Given the description of an element on the screen output the (x, y) to click on. 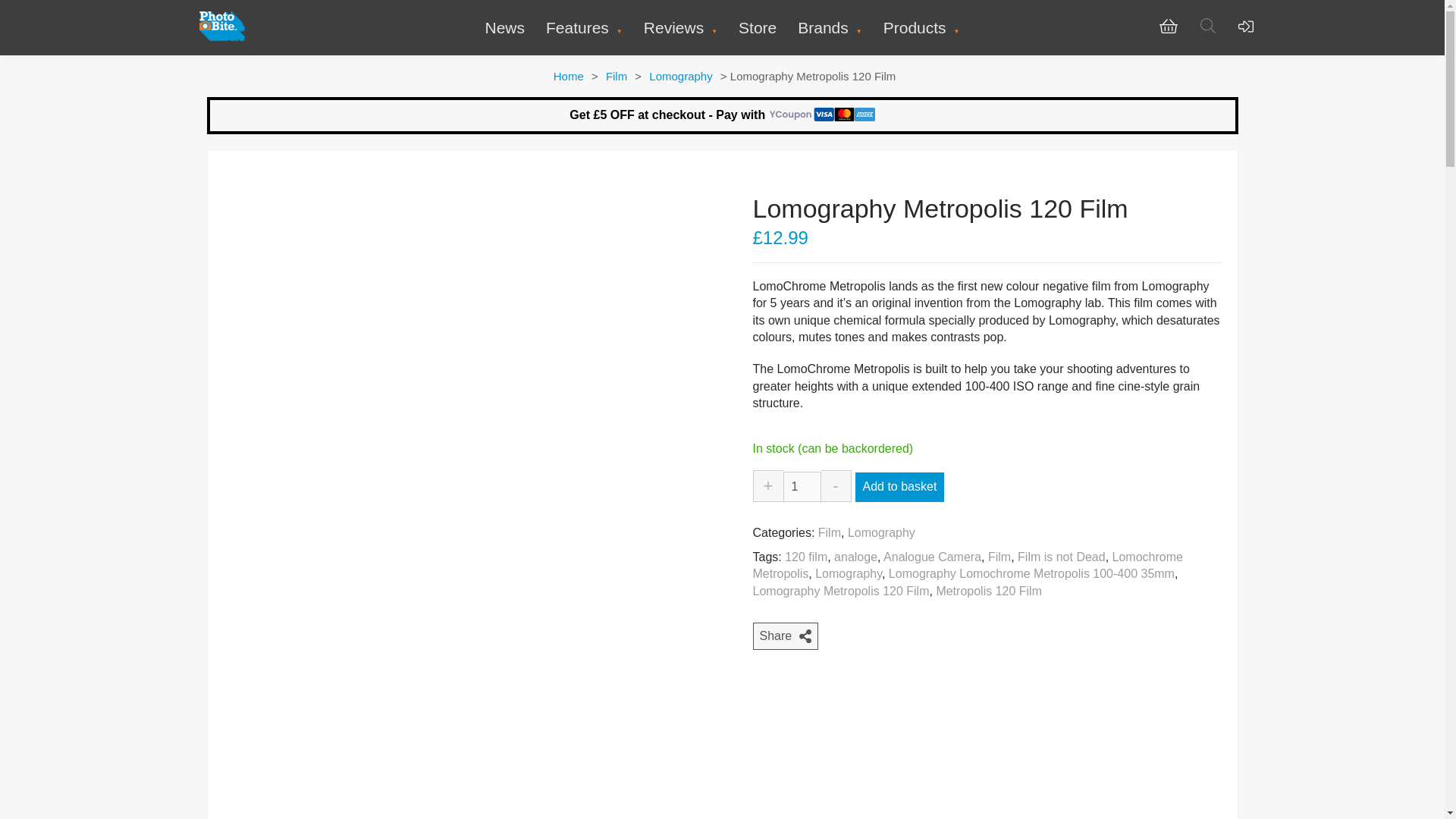
Features (584, 27)
Reviews (680, 27)
Back to PhotoBite home (221, 37)
1 (802, 486)
Store (757, 27)
View your shopping cart (1168, 29)
Brands (829, 27)
News (504, 27)
